Given the description of an element on the screen output the (x, y) to click on. 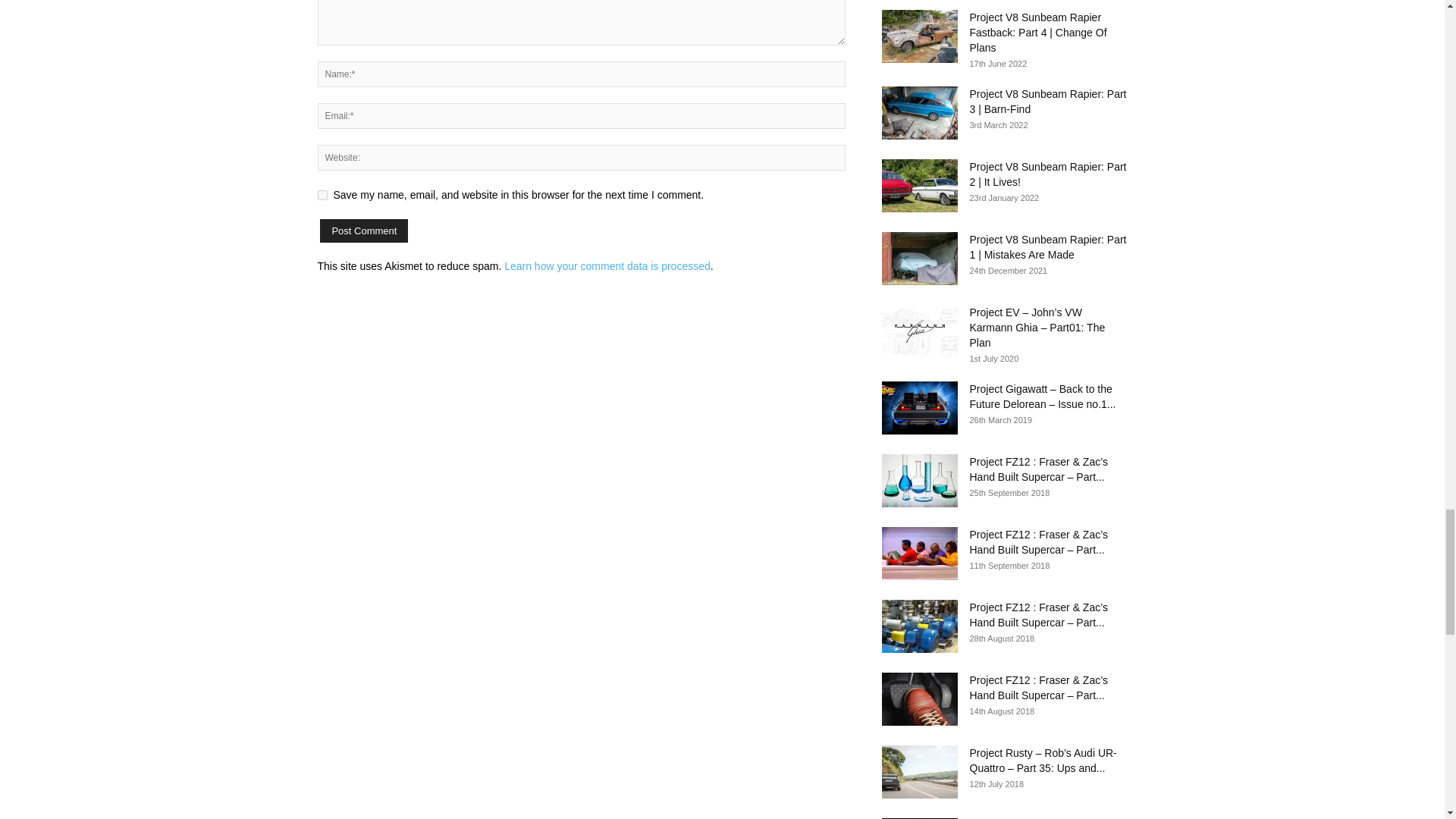
Post Comment (363, 230)
yes (321, 194)
